Given the description of an element on the screen output the (x, y) to click on. 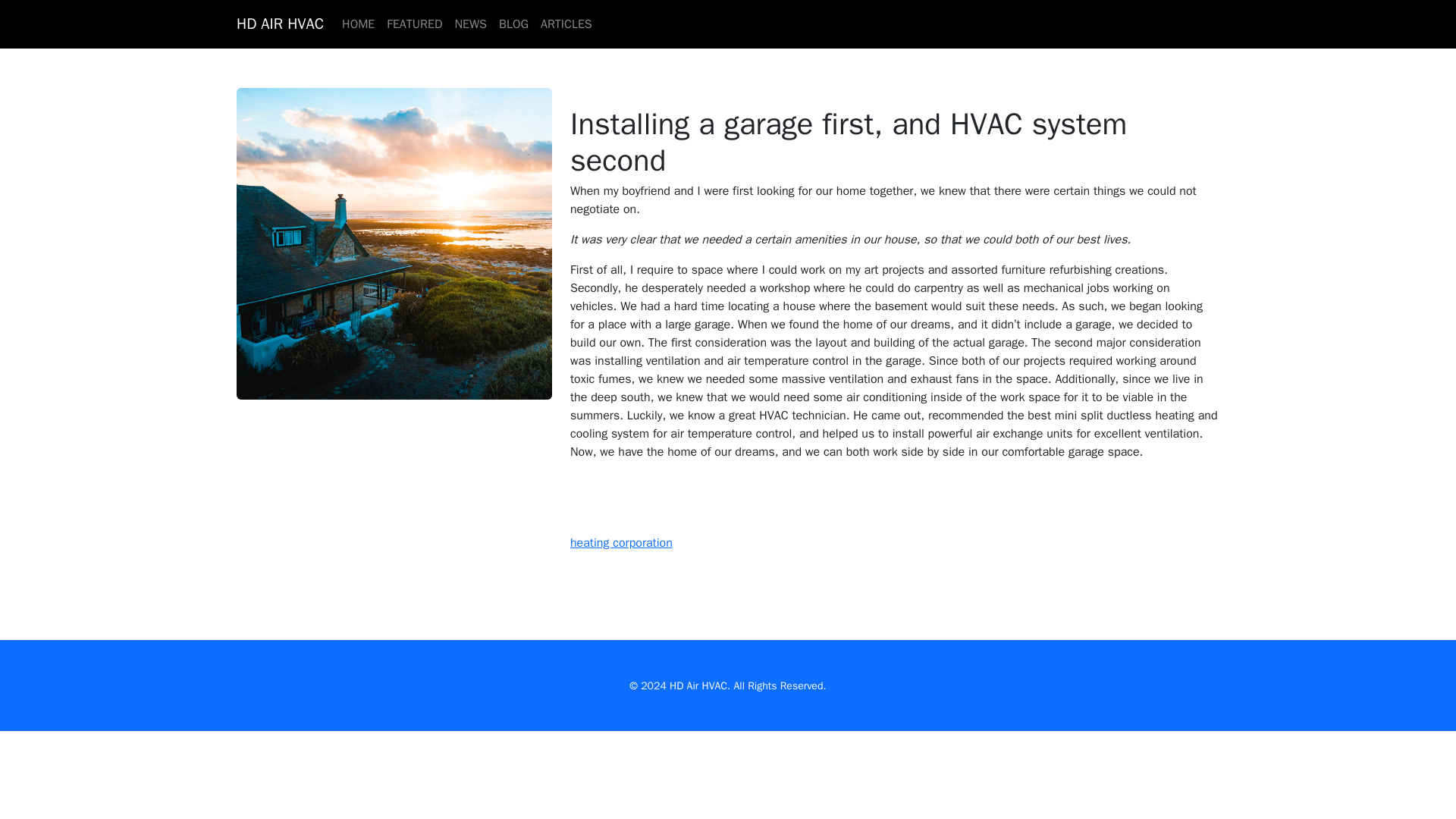
HD Air HVAC (697, 685)
heating corporation (621, 542)
NEWS (470, 24)
BLOG (513, 24)
ARTICLES (566, 24)
HD AIR HVAC (279, 24)
HOME (358, 24)
FEATURED (414, 24)
